Given the description of an element on the screen output the (x, y) to click on. 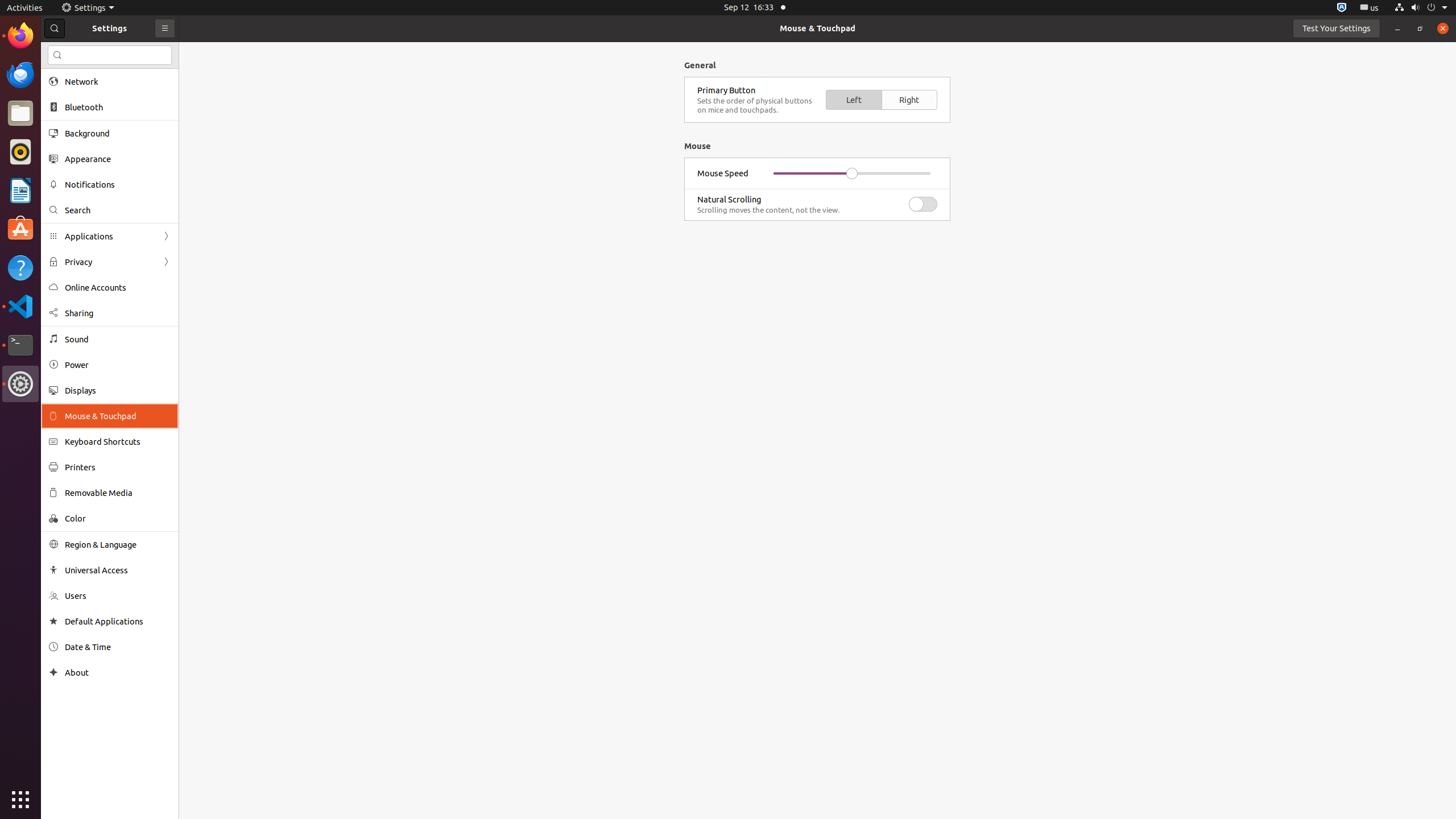
Firefox Web Browser Element type: push-button (20, 35)
Settings Element type: menu (87, 7)
edit-find-symbolic Element type: icon (56, 54)
Primary Button Element type: label (756, 89)
Primary Menu Element type: toggle-button (164, 28)
